Given the description of an element on the screen output the (x, y) to click on. 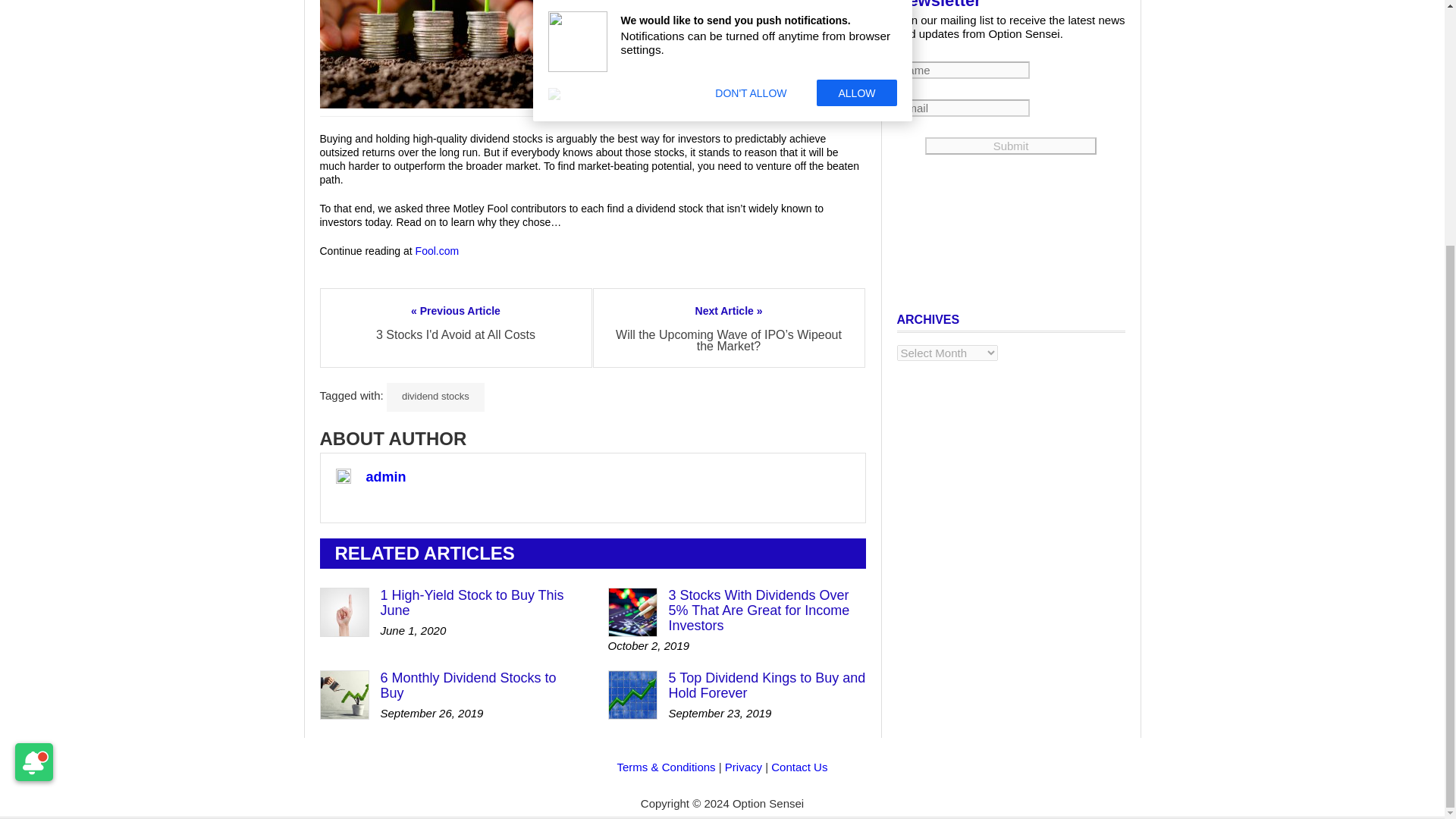
6 Monthly Dividend Stocks to Buy (468, 685)
admin (385, 477)
Contact Us (799, 766)
dividend stocks (435, 397)
3 Stocks I'd Avoid at All Costs (454, 334)
Fool.com (437, 250)
1 High-Yield Stock to Buy This June (472, 603)
Fool.com (437, 250)
Privacy (743, 766)
5 Top Dividend Kings to Buy and Hold Forever (767, 685)
Submit (1010, 145)
